Given the description of an element on the screen output the (x, y) to click on. 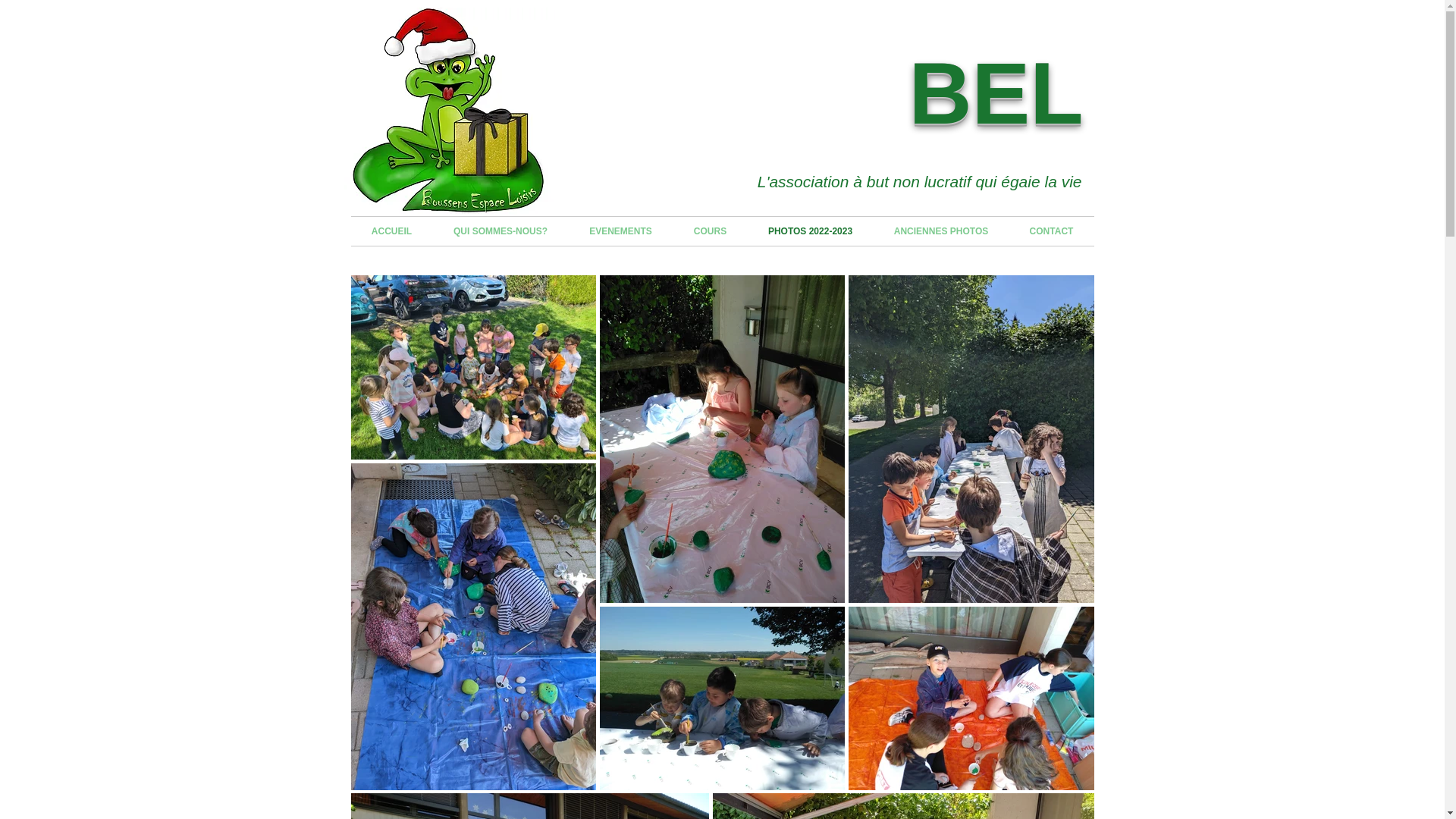
CONTACT Element type: text (1050, 230)
EVENEMENTS Element type: text (620, 230)
QUI SOMMES-NOUS? Element type: text (499, 230)
ANCIENNES PHOTOS Element type: text (941, 230)
PHOTOS 2022-2023 Element type: text (810, 230)
ACCUEIL Element type: text (391, 230)
COURS Element type: text (710, 230)
